Given the description of an element on the screen output the (x, y) to click on. 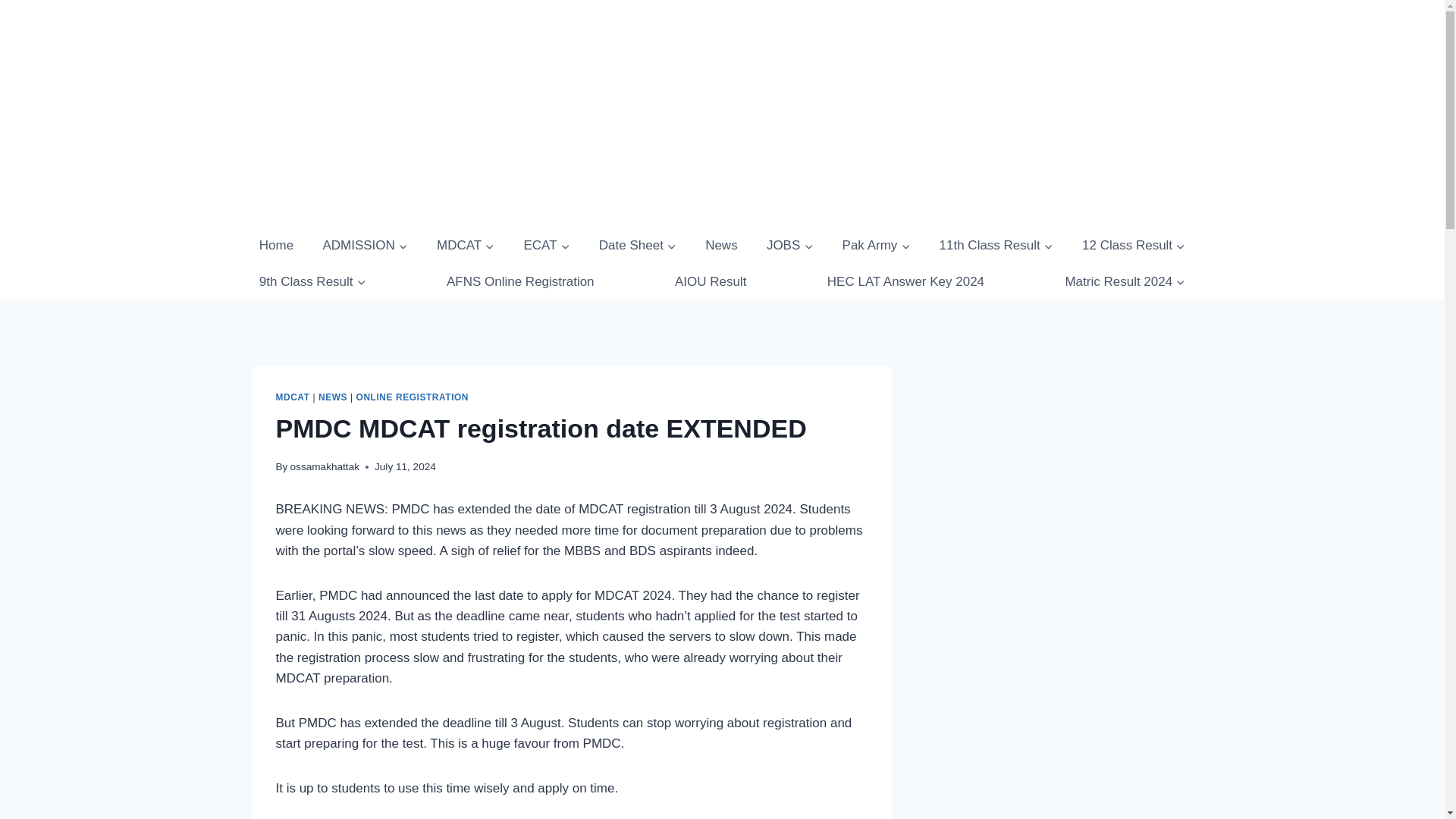
Pak Army (875, 245)
JOBS (789, 245)
Date Sheet (637, 245)
News (721, 245)
MDCAT (465, 245)
Home (276, 245)
ADMISSION (364, 245)
ECAT (546, 245)
